Given the description of an element on the screen output the (x, y) to click on. 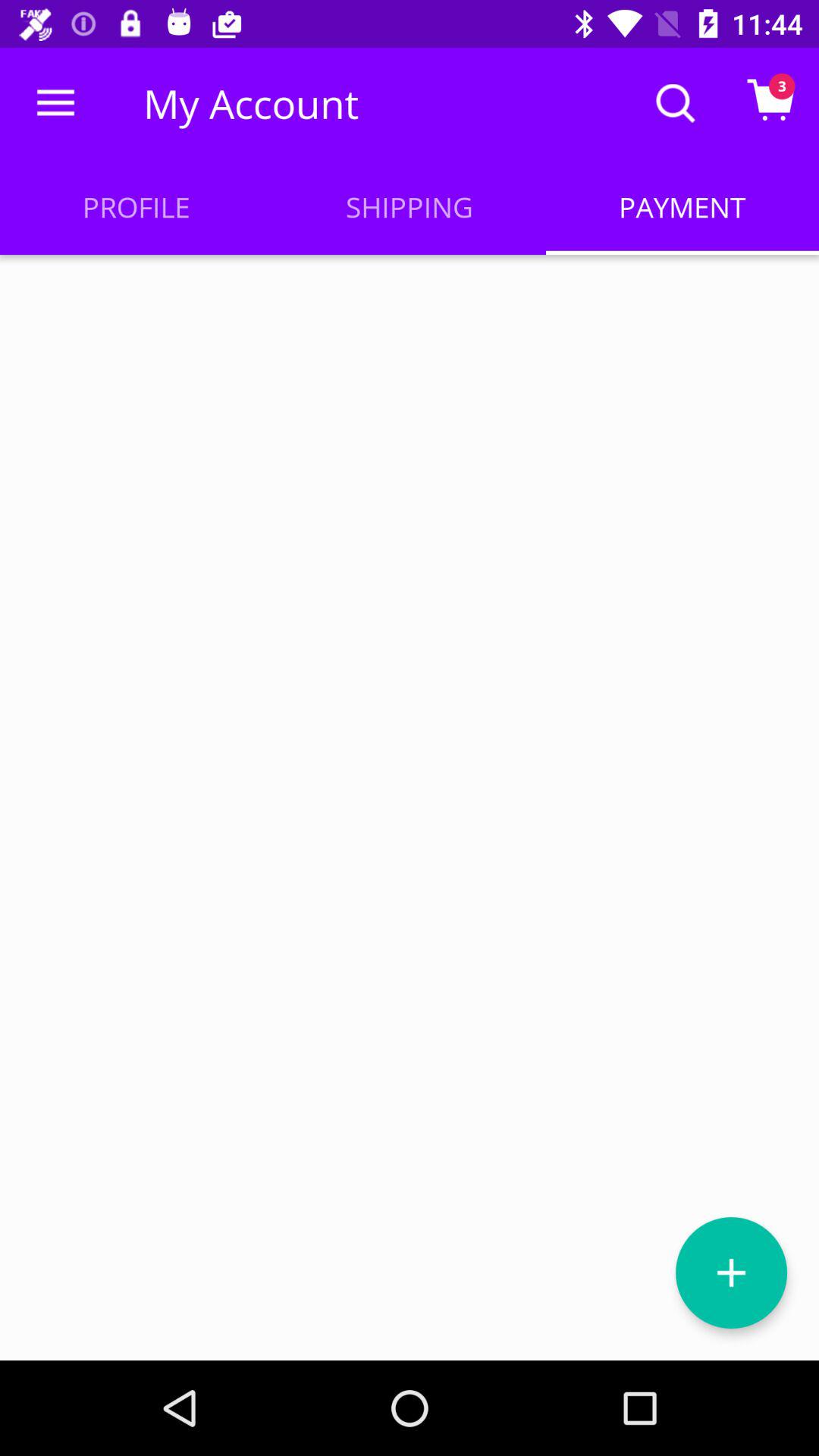
tap the icon next to my account item (55, 103)
